Given the description of an element on the screen output the (x, y) to click on. 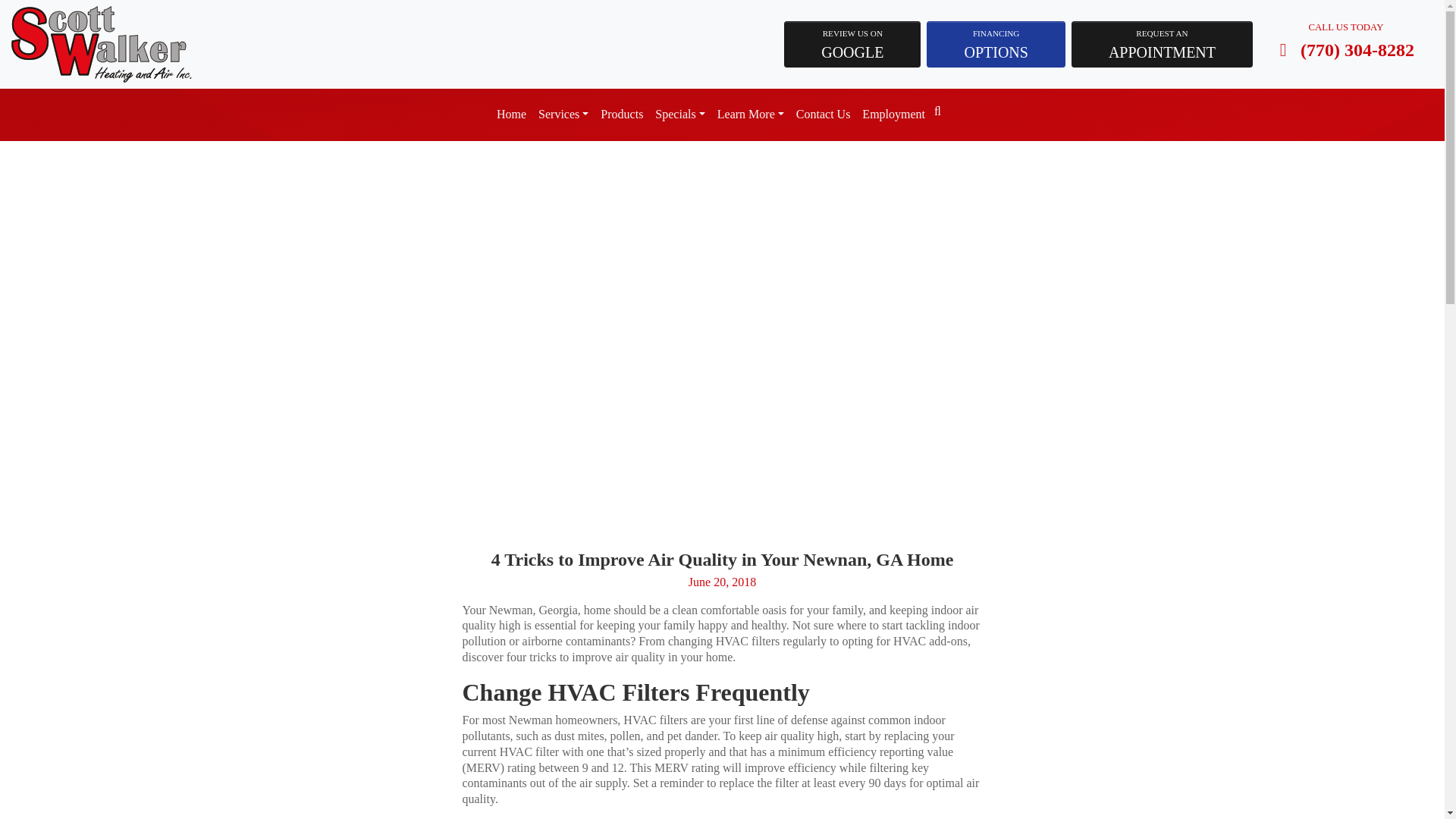
Home (511, 114)
Specials (852, 44)
Contact Us (679, 114)
Employment (823, 114)
Services (893, 114)
Learn More (1161, 44)
Products (563, 114)
